Given the description of an element on the screen output the (x, y) to click on. 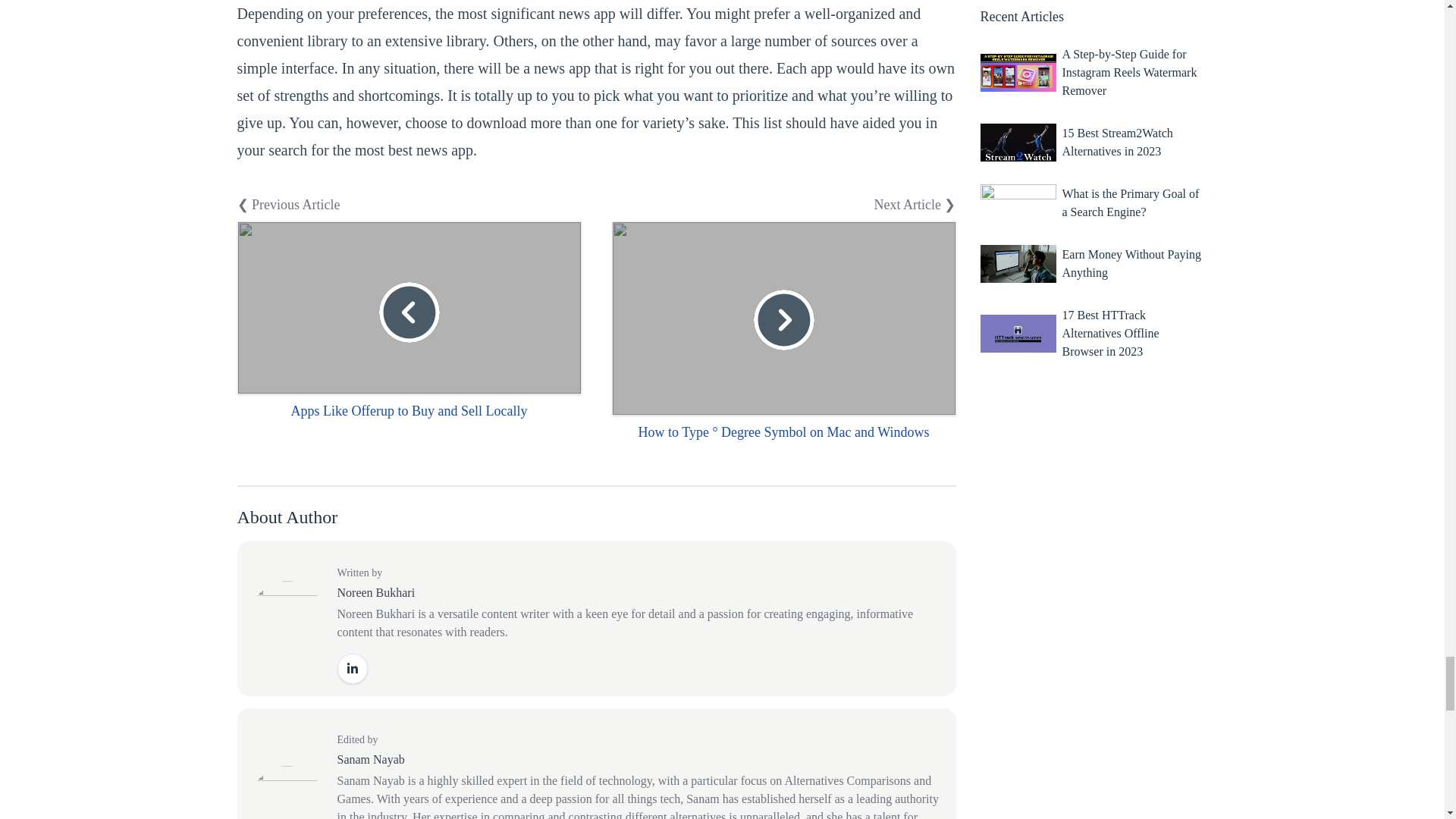
Sanam Nayab (370, 758)
Apps Like Offerup to Buy and Sell Locally (408, 410)
Noreen Bukhari (375, 592)
